Given the description of an element on the screen output the (x, y) to click on. 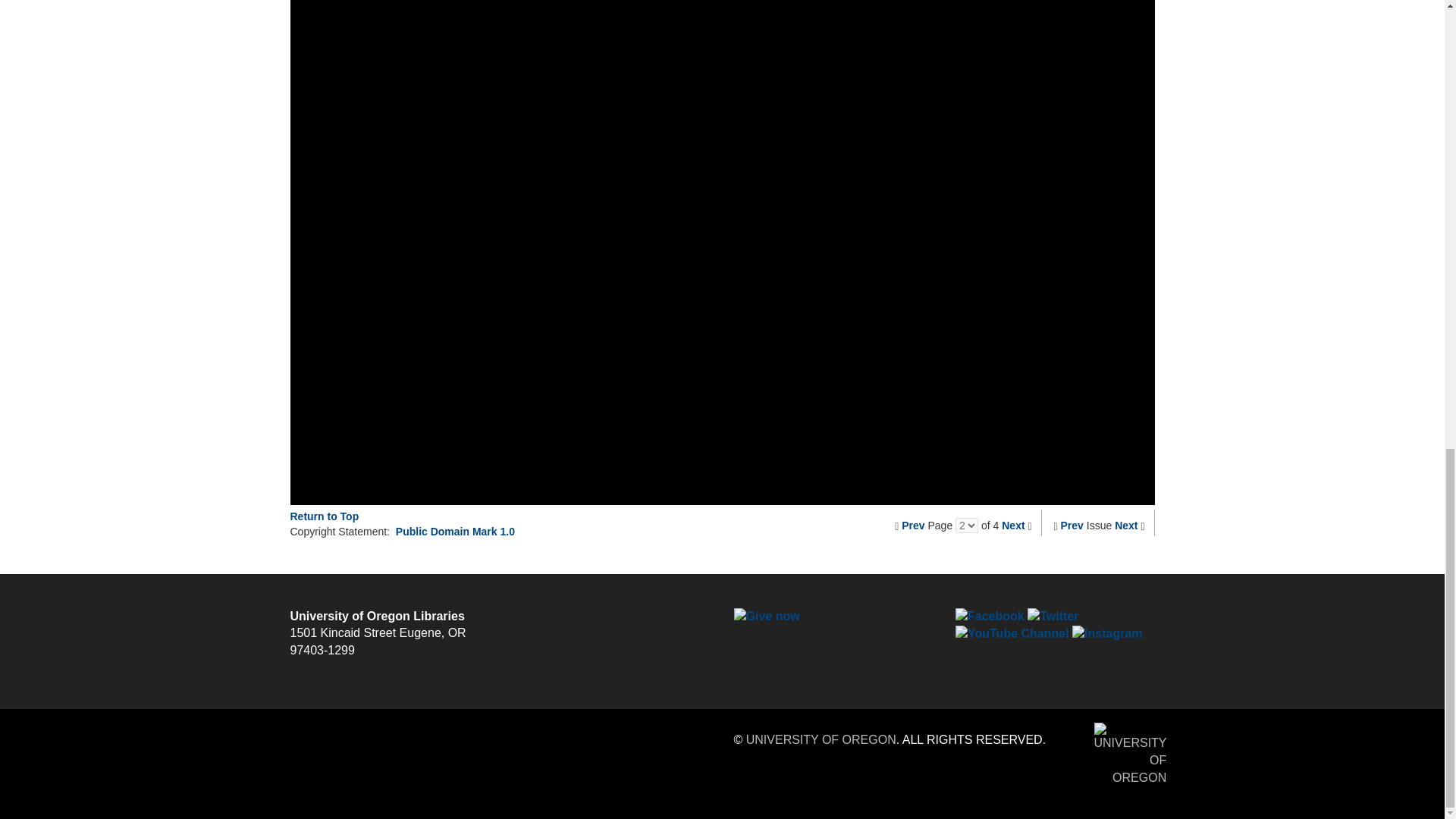
Public Domain Mark 1.0 (455, 531)
Next (1013, 525)
Prev (912, 525)
Prev (1072, 525)
Return to Top (323, 516)
Next (1126, 525)
